Given the description of an element on the screen output the (x, y) to click on. 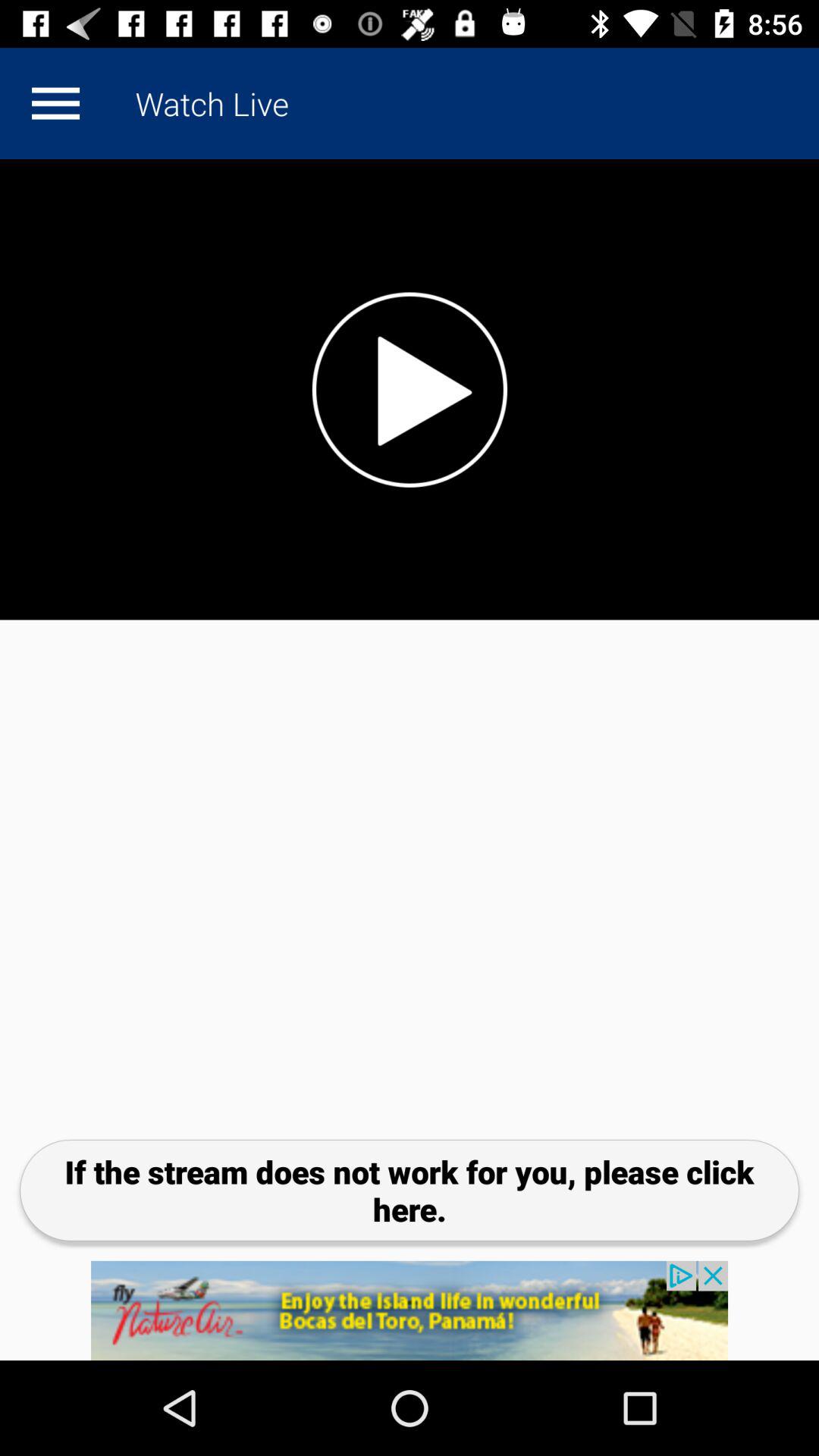
go to play (55, 103)
